Given the description of an element on the screen output the (x, y) to click on. 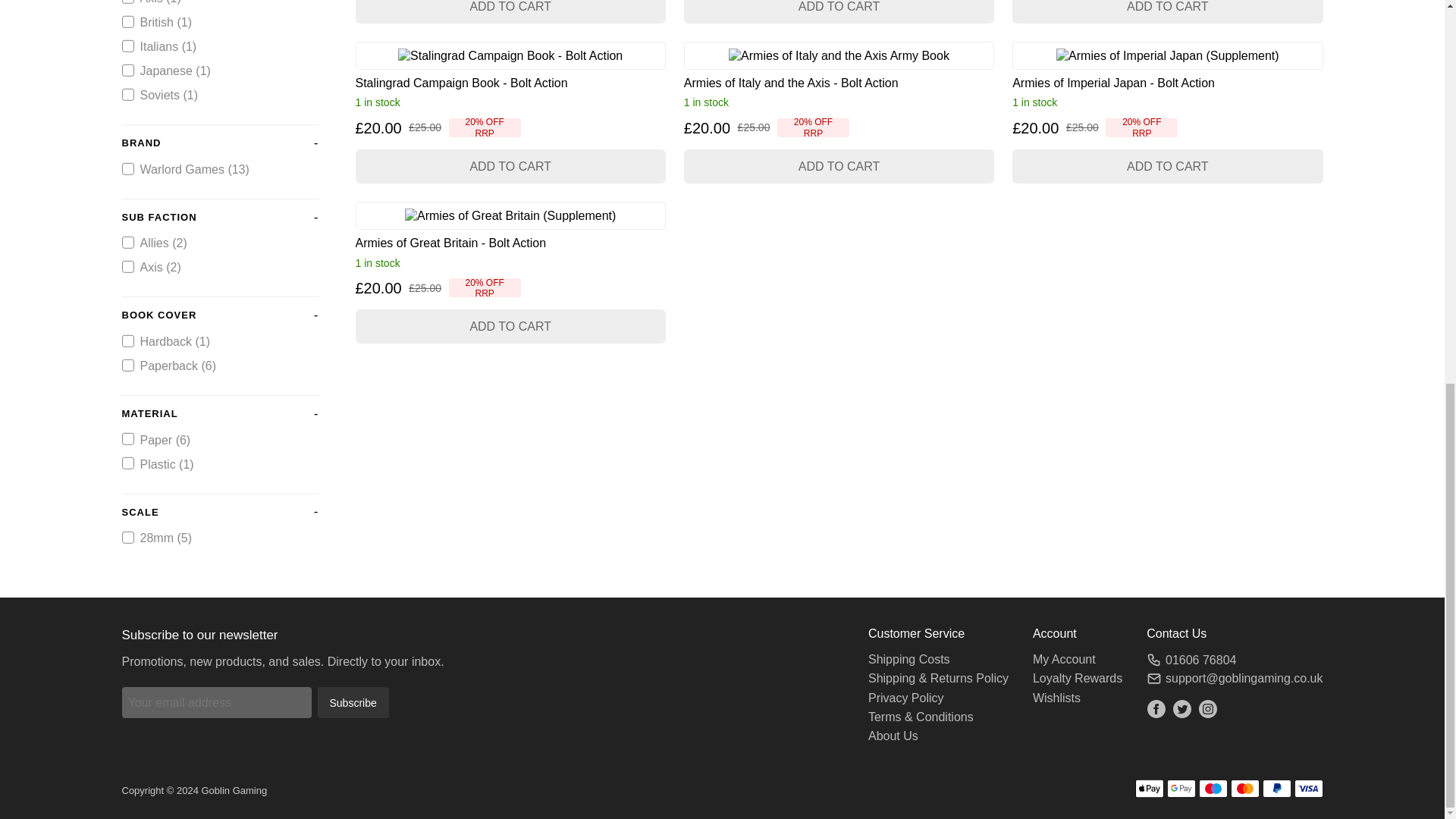
Google Pay (1180, 788)
Hardback (126, 340)
Allies (126, 242)
Maestro (1212, 788)
Warlord Games (126, 168)
Axis (126, 2)
Visa (1308, 788)
Paperback (126, 364)
Mastercard (1244, 788)
Italians (126, 46)
Soviets (126, 94)
Axis (126, 266)
Japanese (126, 70)
PayPal (1276, 788)
Apple Pay (1148, 788)
